Given the description of an element on the screen output the (x, y) to click on. 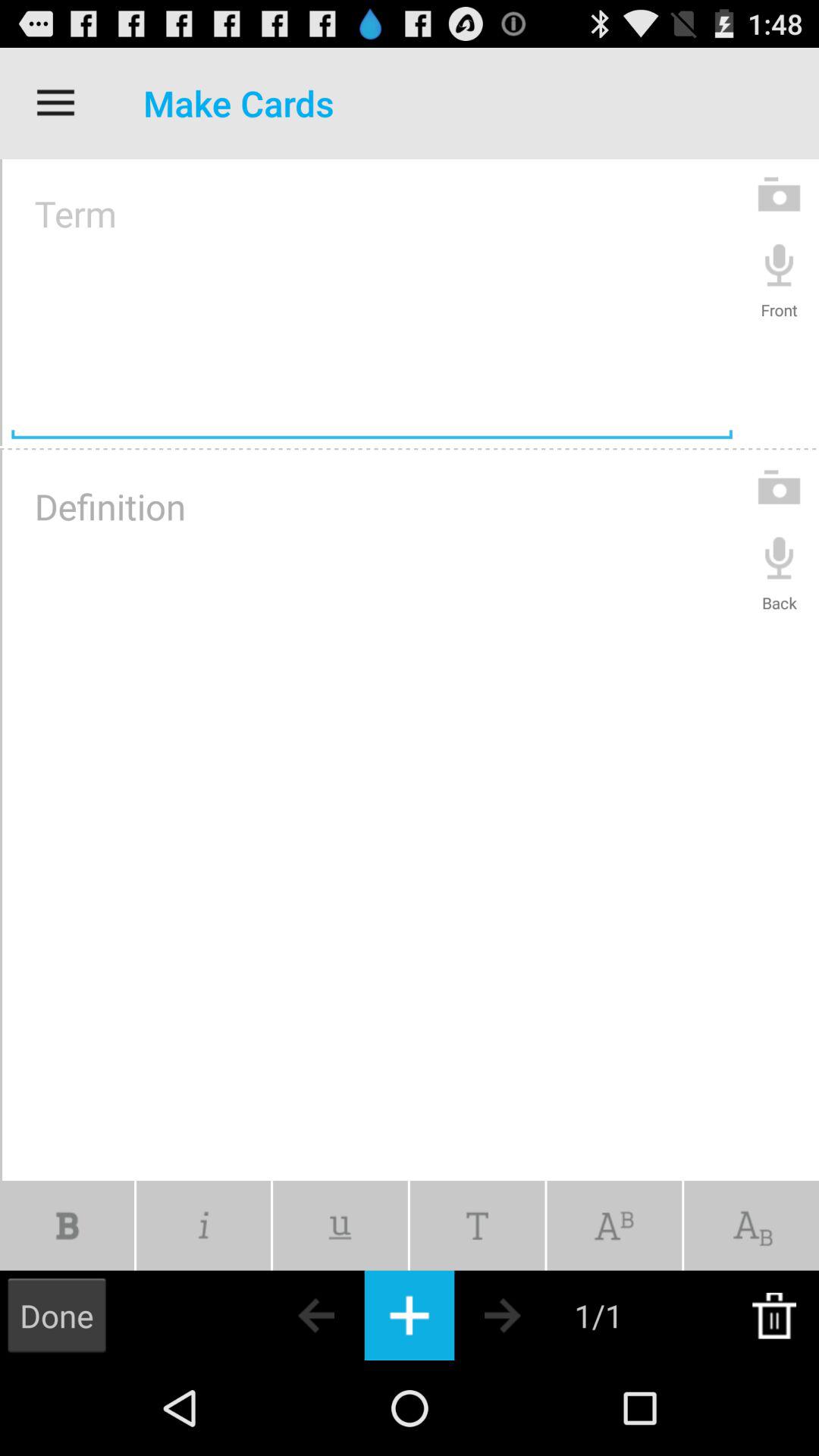
record from front (779, 264)
